Given the description of an element on the screen output the (x, y) to click on. 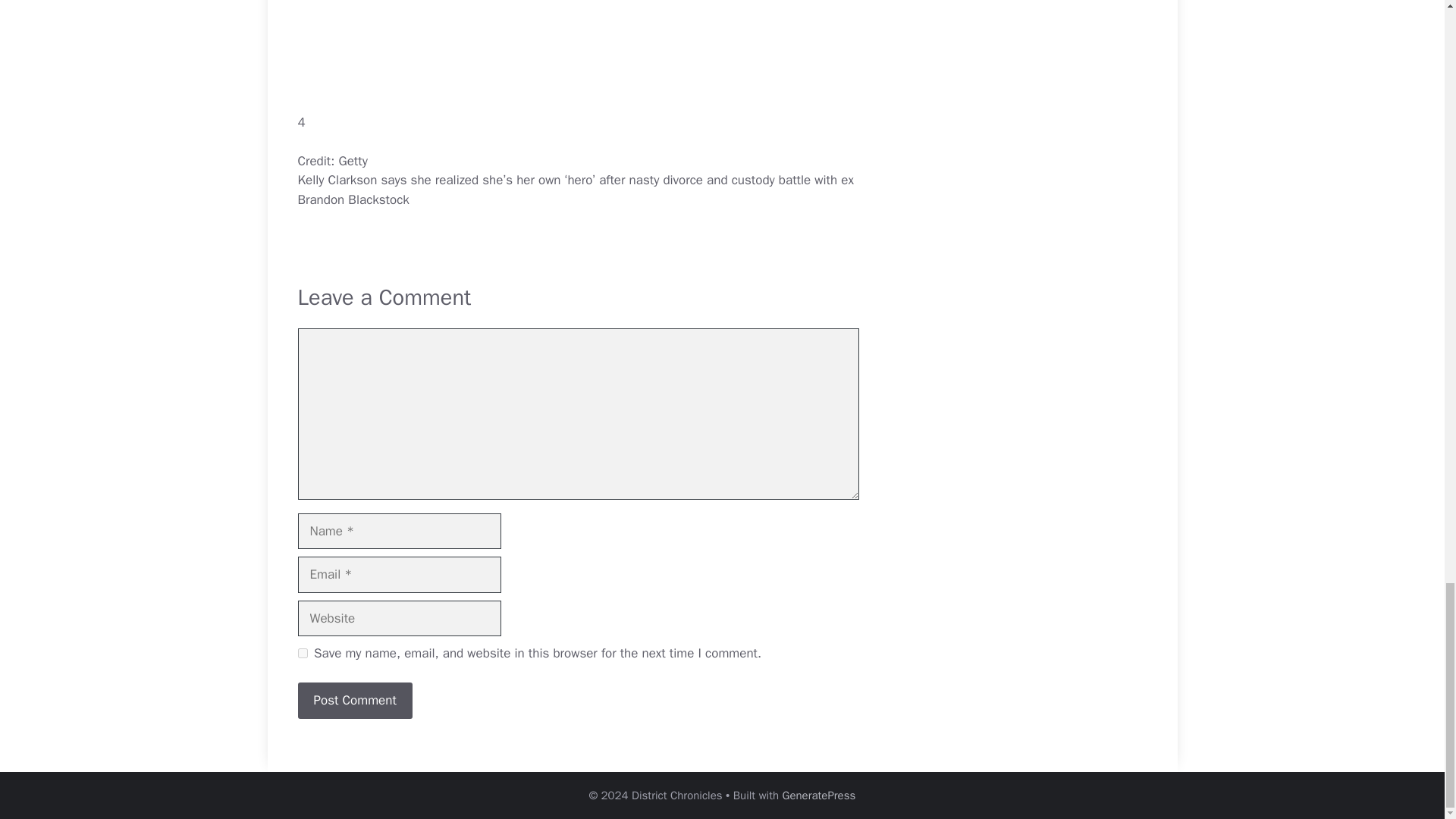
yes (302, 653)
GeneratePress (819, 795)
Post Comment (354, 700)
Post Comment (354, 700)
